Given the description of an element on the screen output the (x, y) to click on. 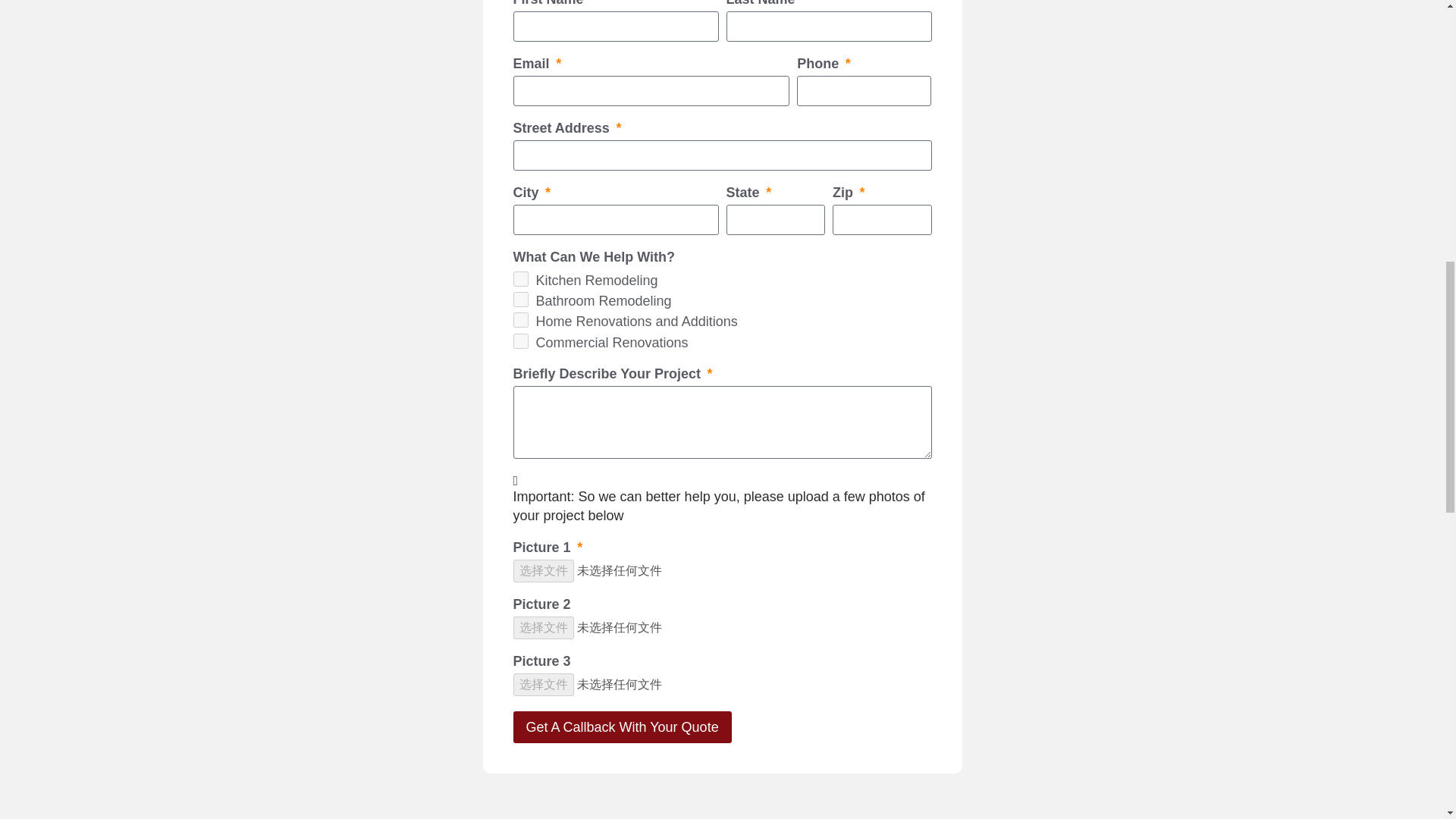
Commercial Renovations (519, 340)
Home Renovations and Additions (519, 319)
Kitchen Remodeling (519, 278)
Bathroom Remodeling (519, 299)
Get A Callback With Your Quote (621, 726)
